Given the description of an element on the screen output the (x, y) to click on. 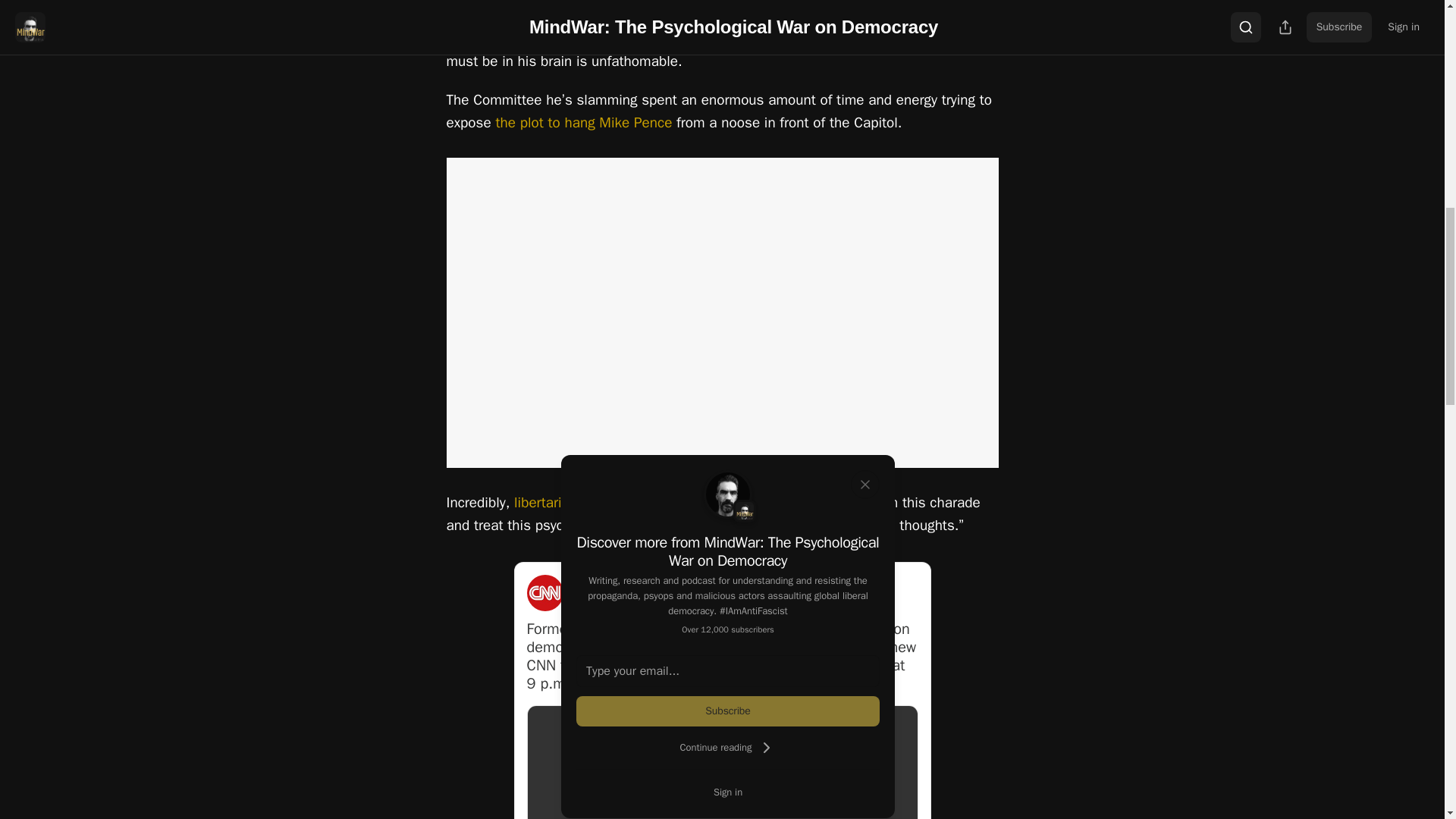
Sign in (727, 791)
Subscribe (727, 711)
the plot to hang Mike Pence (583, 122)
libertarian propaganda channel CNN (629, 502)
